Given the description of an element on the screen output the (x, y) to click on. 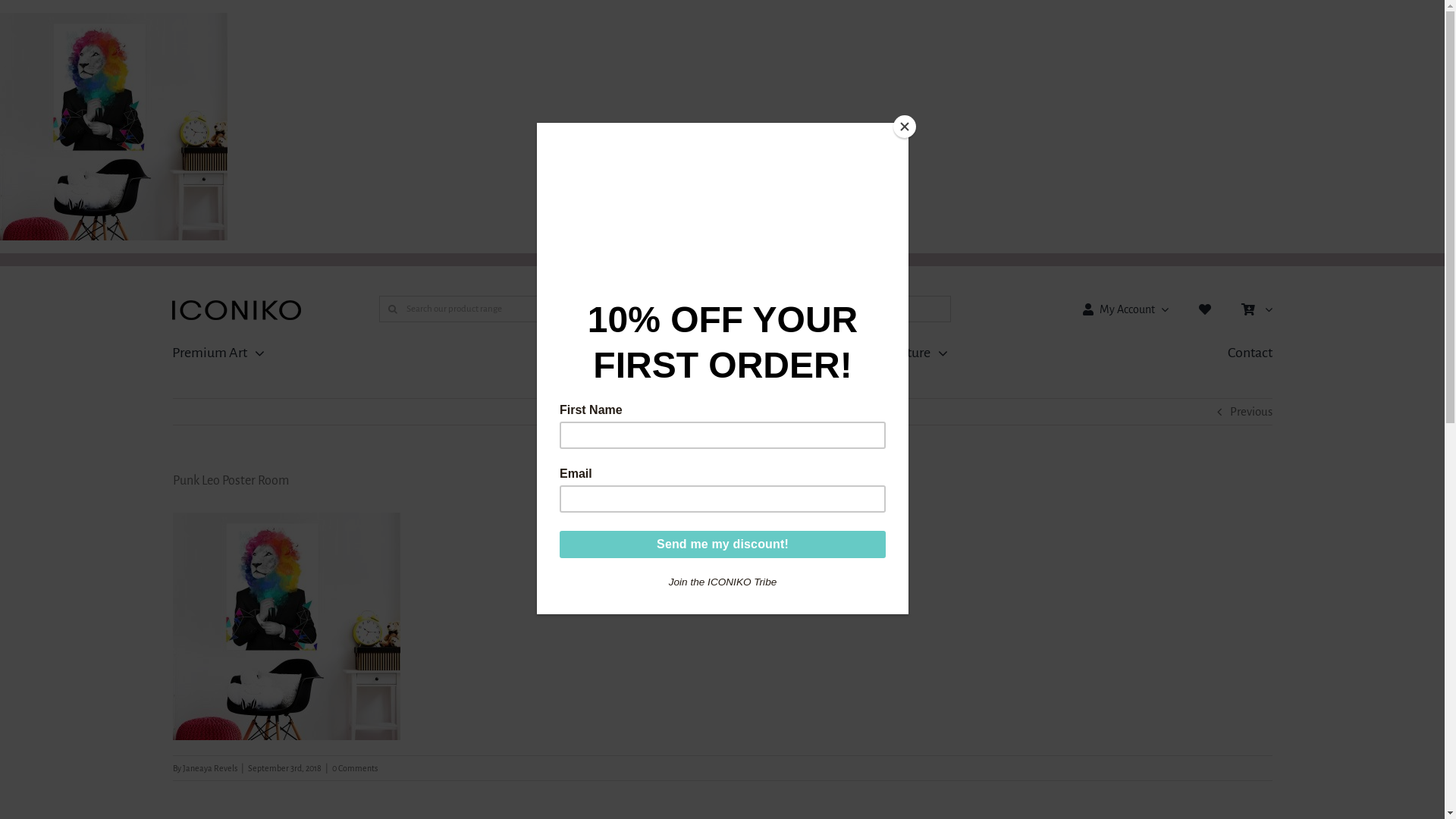
Contact Element type: text (1249, 352)
Janeaya Revels Element type: text (209, 767)
Log In Element type: text (1205, 438)
My Account Element type: text (1122, 309)
Decor Element type: text (570, 352)
Furniture Element type: text (912, 352)
Premium Art Element type: text (218, 352)
0 Comments Element type: text (354, 767)
Previous Element type: text (1251, 411)
